Given the description of an element on the screen output the (x, y) to click on. 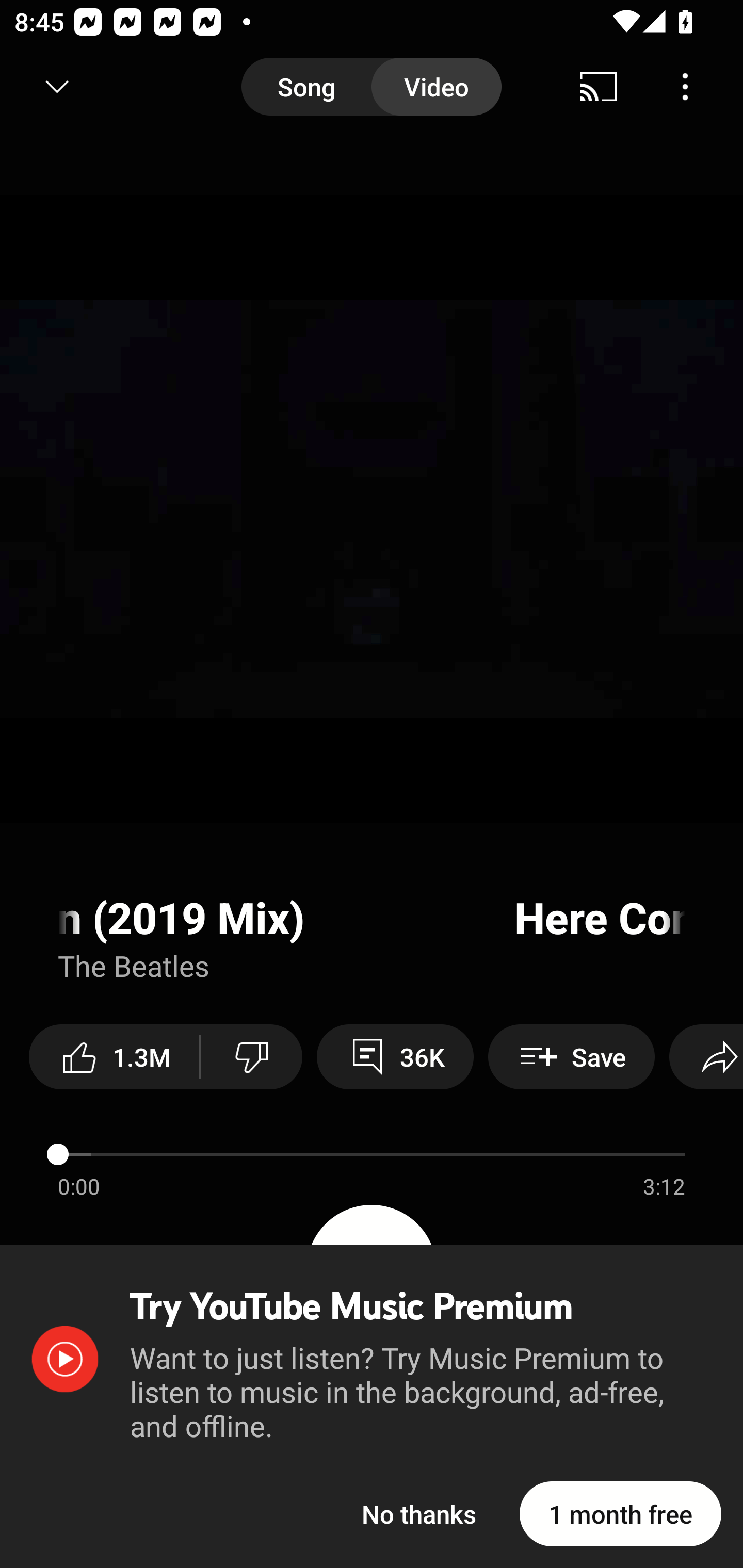
Minimize (57, 86)
Cast. Disconnected (598, 86)
Menu (684, 86)
Action menu (371, 940)
Dislike (251, 1056)
36K View 36,827 comments (395, 1056)
Save Save to playlist (571, 1056)
Share (706, 1056)
Action menu (371, 1171)
No thanks (418, 1513)
1 month free (620, 1513)
